Given the description of an element on the screen output the (x, y) to click on. 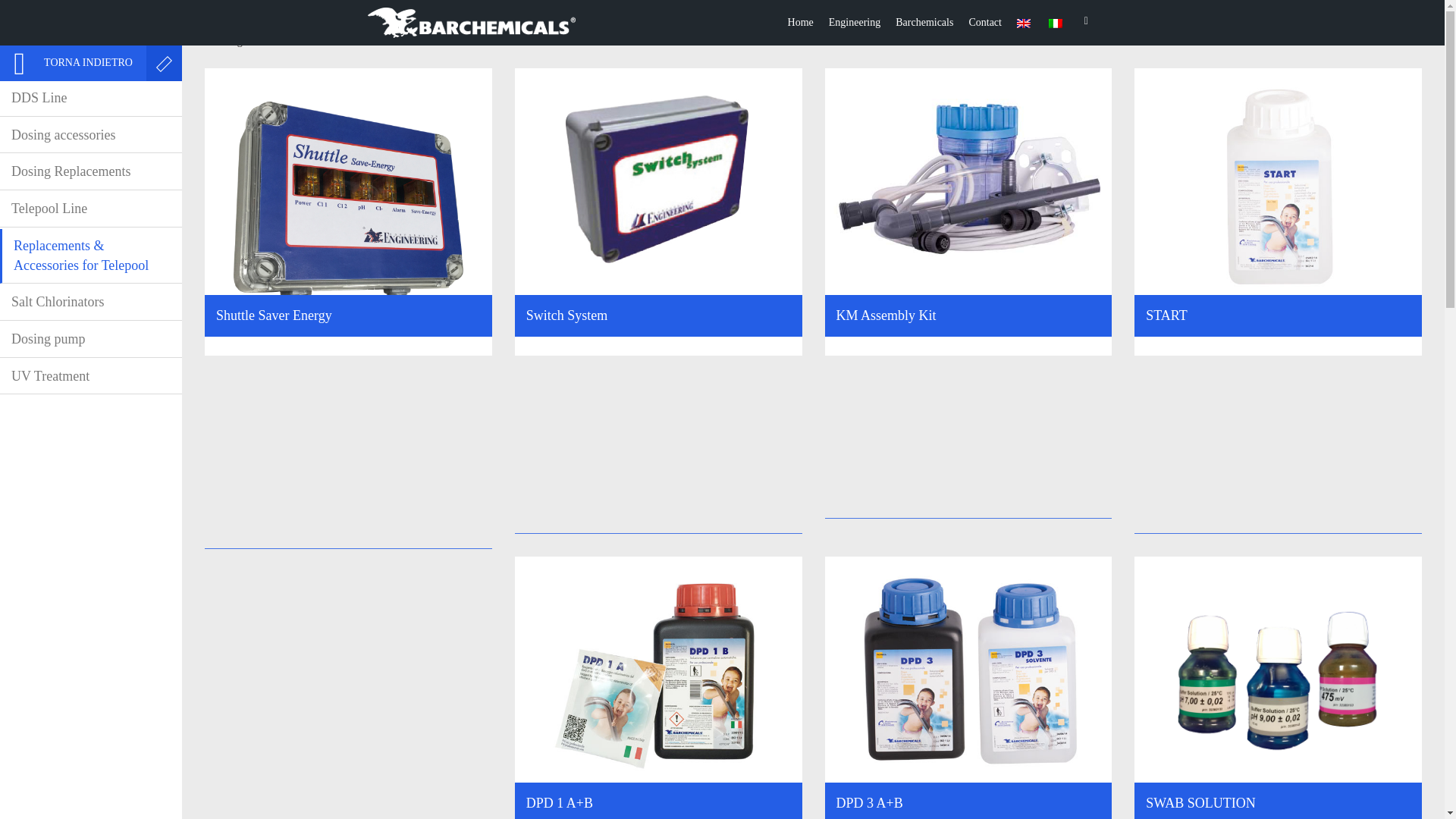
Barchemicals (924, 22)
Salt Chlorinators (91, 303)
DDS Line (91, 99)
Engineering (854, 22)
TORNA INDIETRO (73, 63)
Dosing accessories (91, 135)
Dosing pump (91, 339)
Dosing Replacements (91, 172)
English (1023, 22)
Barchemicals (924, 22)
